Given the description of an element on the screen output the (x, y) to click on. 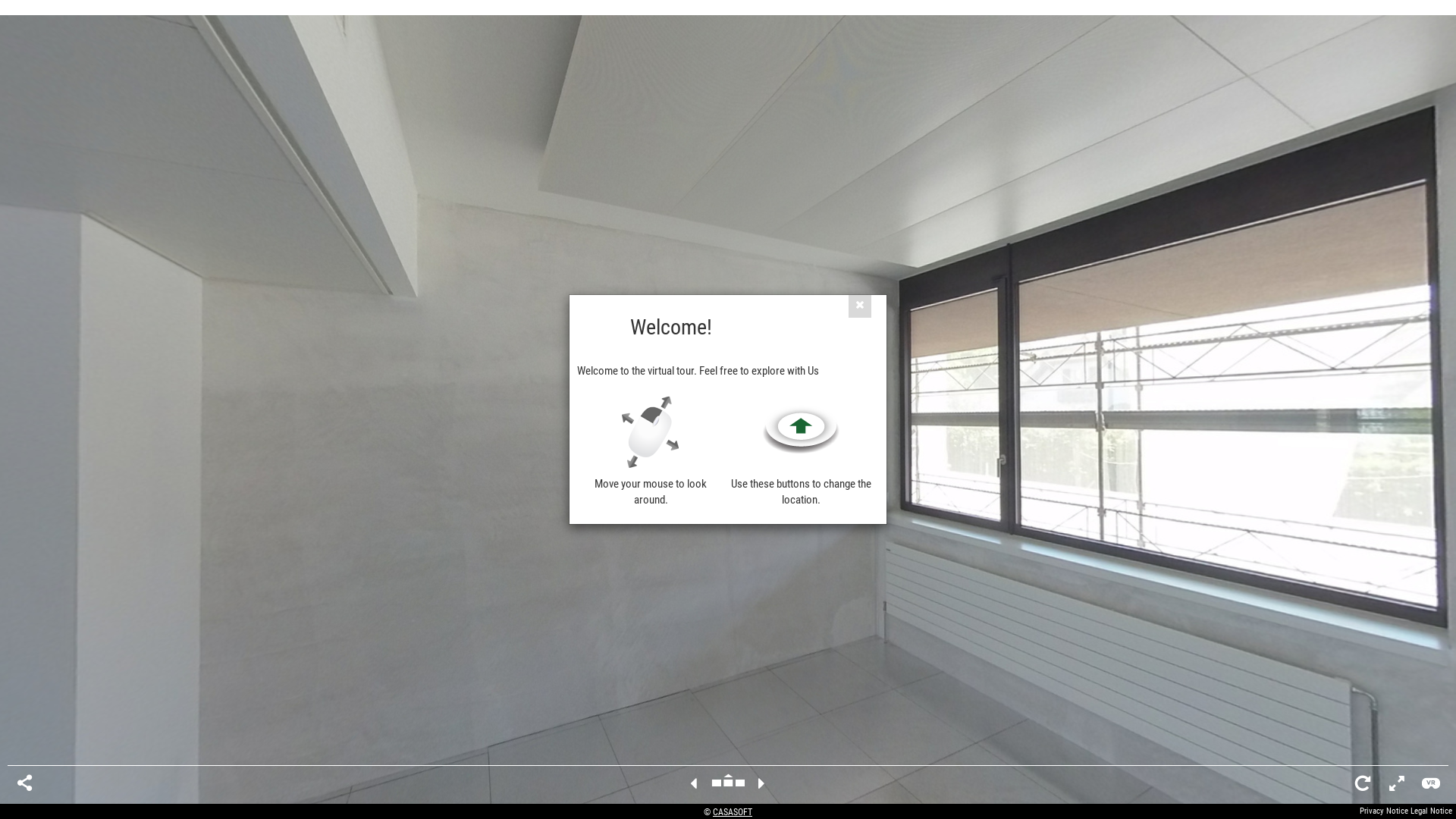
Previous Element type: hover (693, 783)
Virtual Reality Mode Element type: hover (1430, 783)
Privacy Notice Element type: text (1383, 810)
Rotation Element type: hover (1362, 783)
Legal Notice Element type: text (1431, 810)
Share Element type: hover (24, 783)
Next Element type: hover (761, 783)
Fullscreen Element type: hover (1396, 783)
Gallery Element type: hover (727, 783)
CASASOFT Element type: text (732, 811)
